Given the description of an element on the screen output the (x, y) to click on. 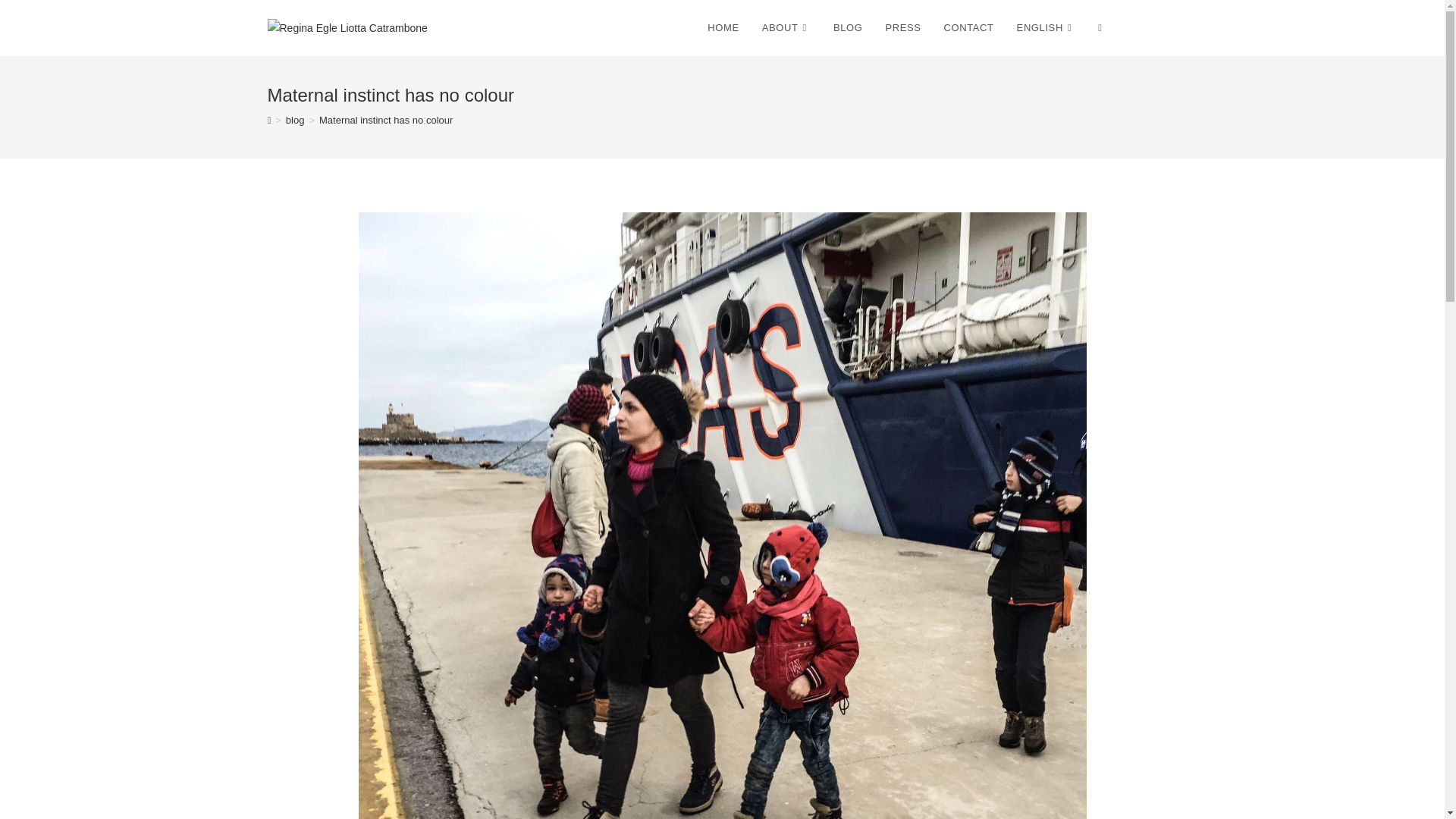
English (1046, 28)
BLOG (848, 28)
HOME (722, 28)
ENGLISH (1046, 28)
blog (294, 120)
CONTACT (969, 28)
ABOUT (786, 28)
Maternal instinct has no colour (385, 120)
PRESS (902, 28)
